Given the description of an element on the screen output the (x, y) to click on. 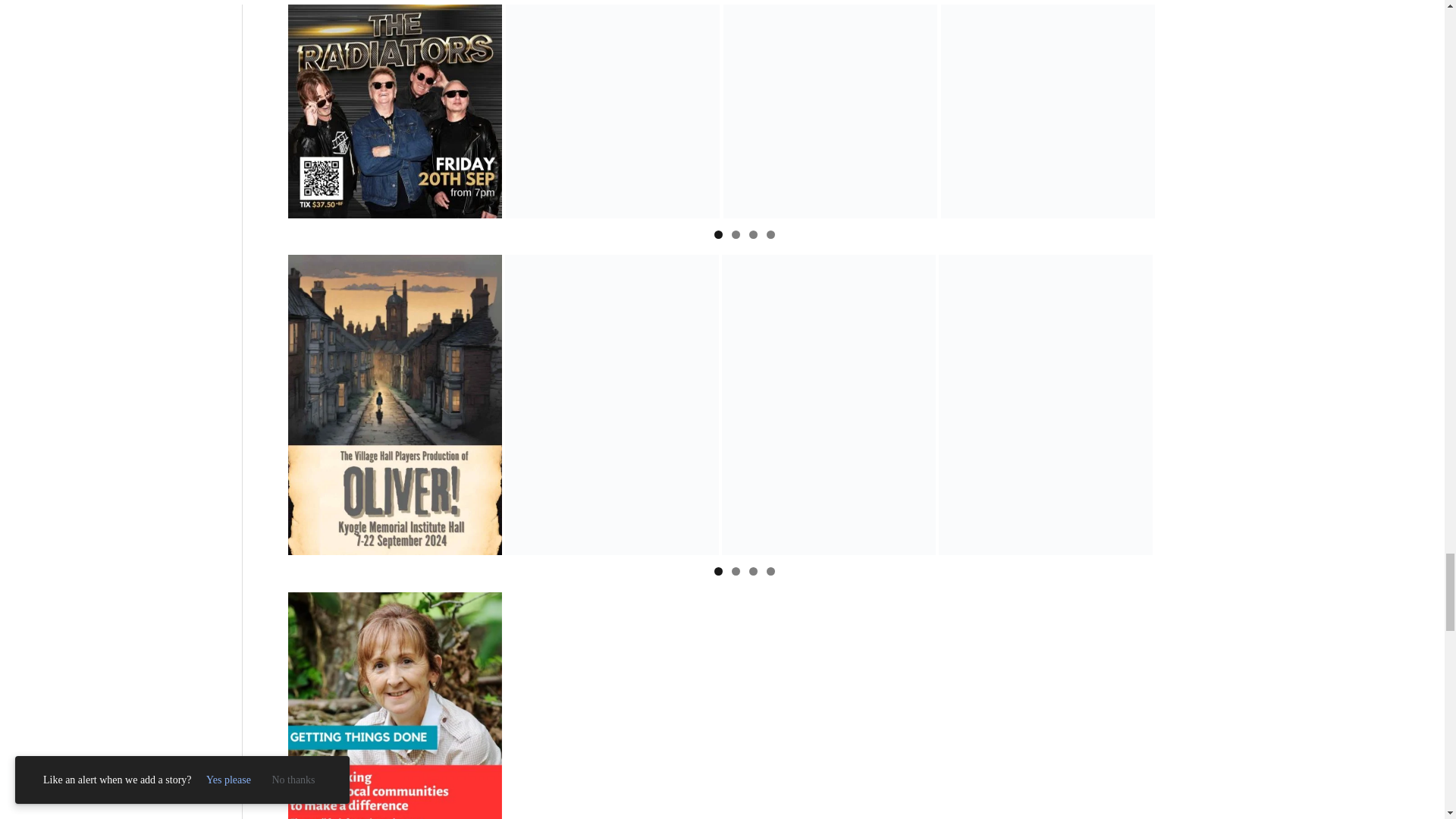
Closer Indy (1047, 111)
Casino Golf - adverts (830, 111)
club evans (395, 111)
tenors ad new (612, 111)
